Given the description of an element on the screen output the (x, y) to click on. 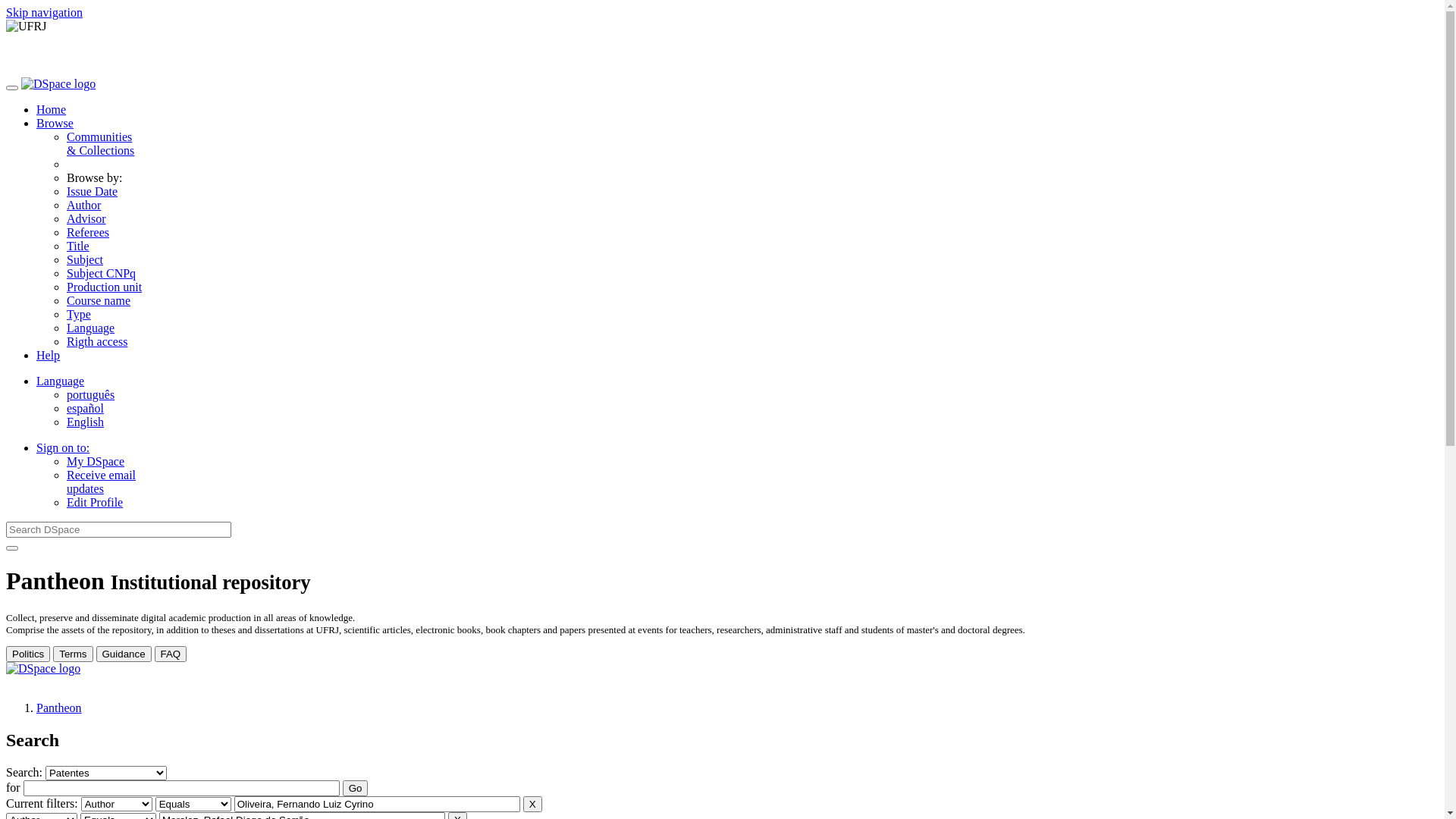
Edit Profile Element type: text (94, 501)
Title Element type: text (77, 245)
FAQ Element type: text (170, 652)
Politics Element type: text (28, 654)
Sign on to: Element type: text (62, 447)
Politics Element type: text (28, 652)
Course name Element type: text (98, 300)
Go Element type: text (355, 788)
X Element type: text (532, 804)
English Element type: text (84, 421)
Universidade Federal do Rio de Janeiro Element type: hover (722, 26)
Subject Element type: text (84, 259)
Home Element type: text (50, 109)
Language Element type: text (60, 380)
Type Element type: text (78, 313)
FAQ Element type: text (170, 654)
Terms Element type: text (72, 652)
Guidance Element type: text (122, 654)
Pantheon Element type: text (58, 707)
Subject CNPq Element type: text (100, 272)
Help Element type: text (47, 354)
Issue Date Element type: text (91, 191)
Referees Element type: text (87, 231)
Terms Element type: text (72, 654)
Advisor Element type: text (86, 218)
Production unit Element type: text (103, 286)
Author Element type: text (83, 204)
Receive email
updates Element type: text (100, 481)
Skip navigation Element type: text (44, 12)
My DSpace Element type: text (95, 461)
Guidance Element type: text (122, 652)
Rigth access Element type: text (96, 341)
Communities
& Collections Element type: text (100, 143)
Language Element type: text (90, 327)
Browse Element type: text (54, 122)
